Given the description of an element on the screen output the (x, y) to click on. 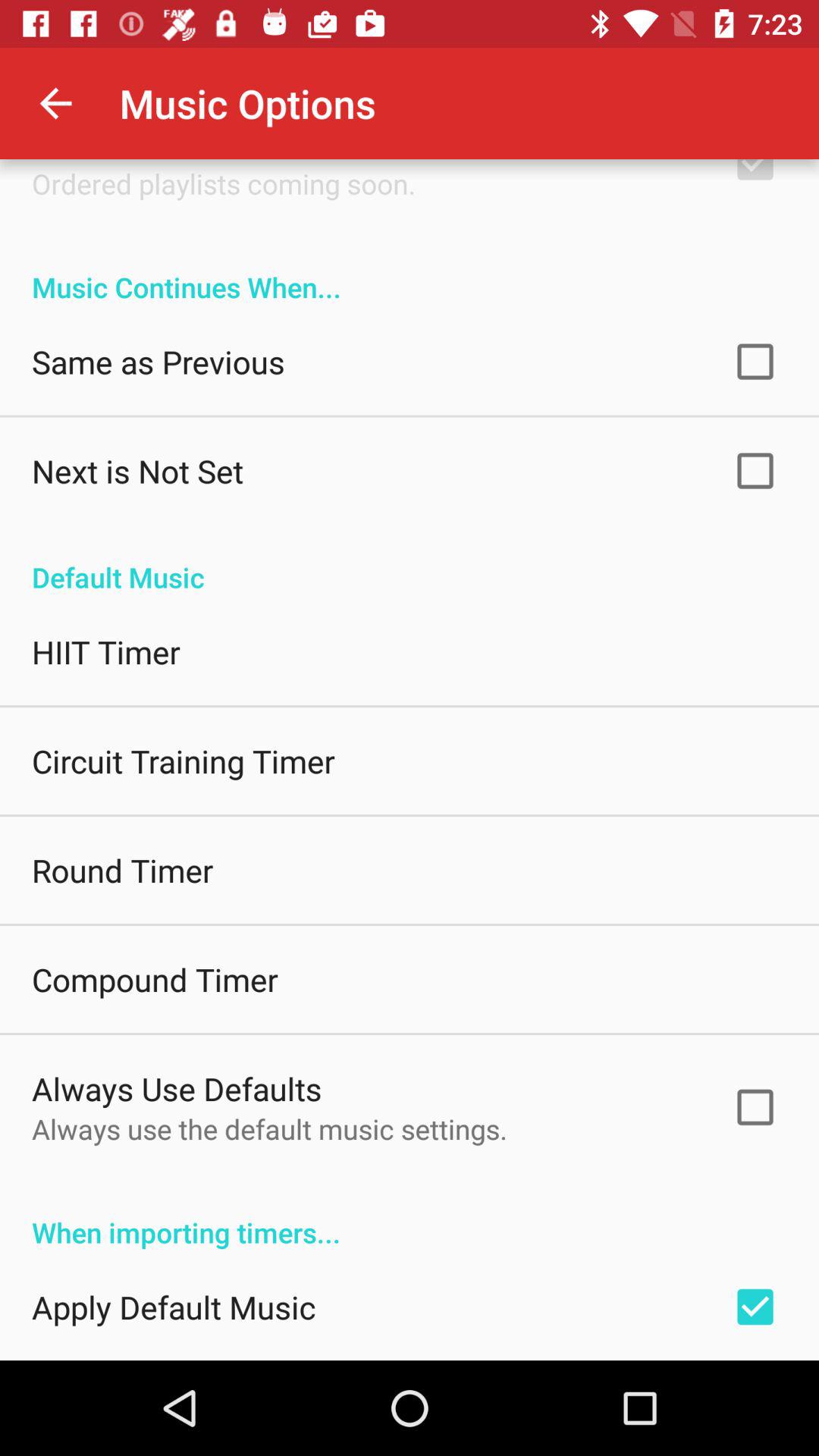
turn on the ordered playlists coming item (223, 183)
